Given the description of an element on the screen output the (x, y) to click on. 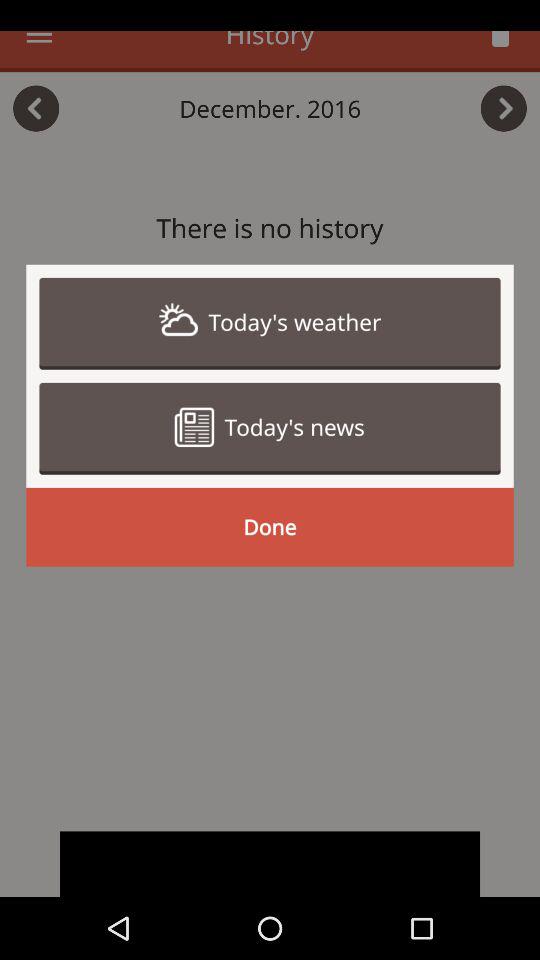
open the done button (269, 526)
